Given the description of an element on the screen output the (x, y) to click on. 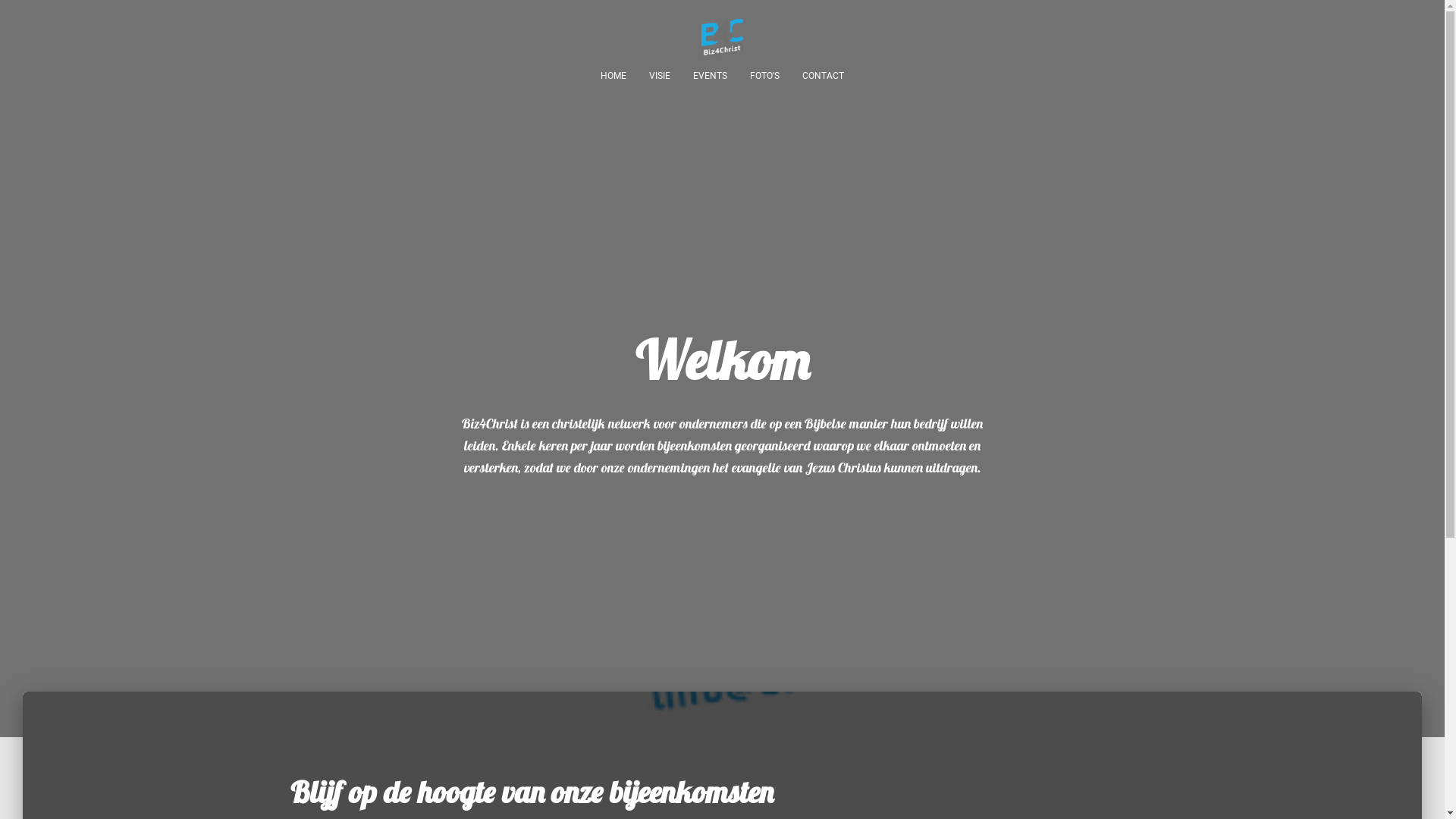
EVENTS Element type: text (709, 75)
CONTACT Element type: text (822, 75)
HOME Element type: text (613, 75)
Biz4Christ Element type: hover (722, 37)
VISIE Element type: text (659, 75)
